Given the description of an element on the screen output the (x, y) to click on. 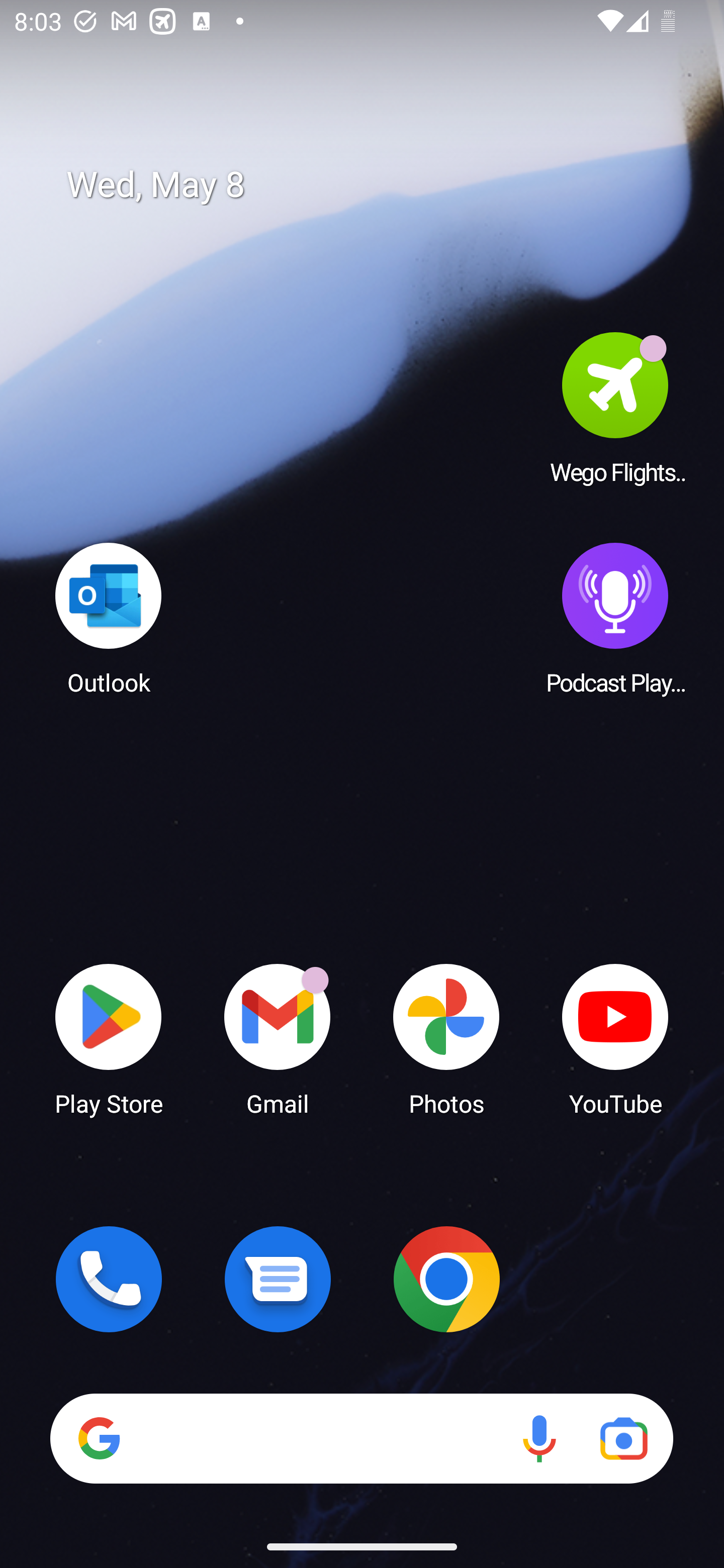
Wed, May 8 (375, 184)
Outlook (108, 617)
Podcast Player (615, 617)
Play Store (108, 1038)
Gmail Gmail has 17 notifications (277, 1038)
Photos (445, 1038)
YouTube (615, 1038)
Phone (108, 1279)
Messages (277, 1279)
Chrome (446, 1279)
Search Voice search Google Lens (361, 1438)
Voice search (539, 1438)
Google Lens (623, 1438)
